Given the description of an element on the screen output the (x, y) to click on. 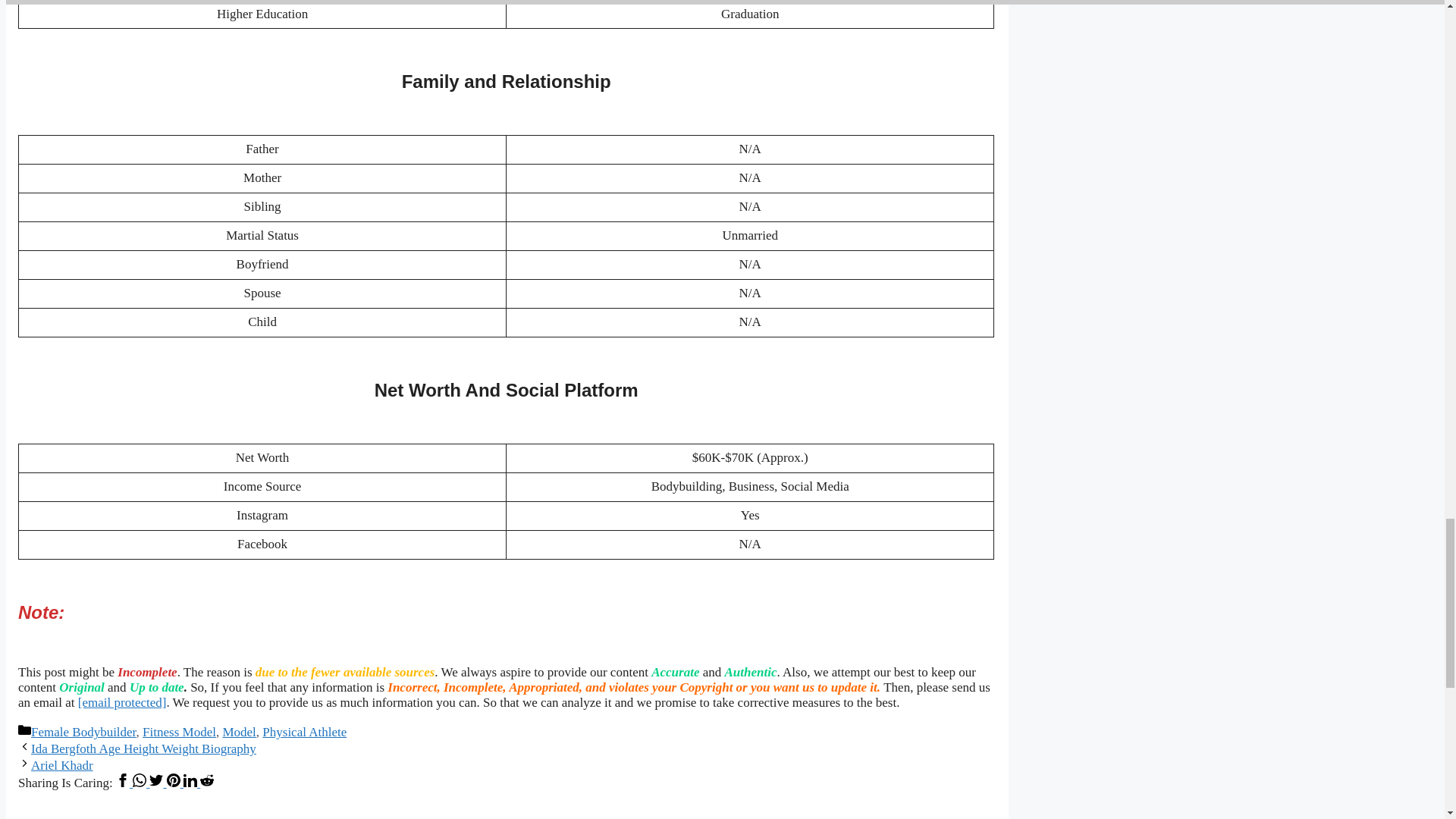
Ida Bergfoth Age Height Weight Biography (143, 748)
Physical Athlete (304, 731)
Fitness Model (178, 731)
Model (239, 731)
Female Bodybuilder (83, 731)
Ariel Khadr (61, 765)
